Given the description of an element on the screen output the (x, y) to click on. 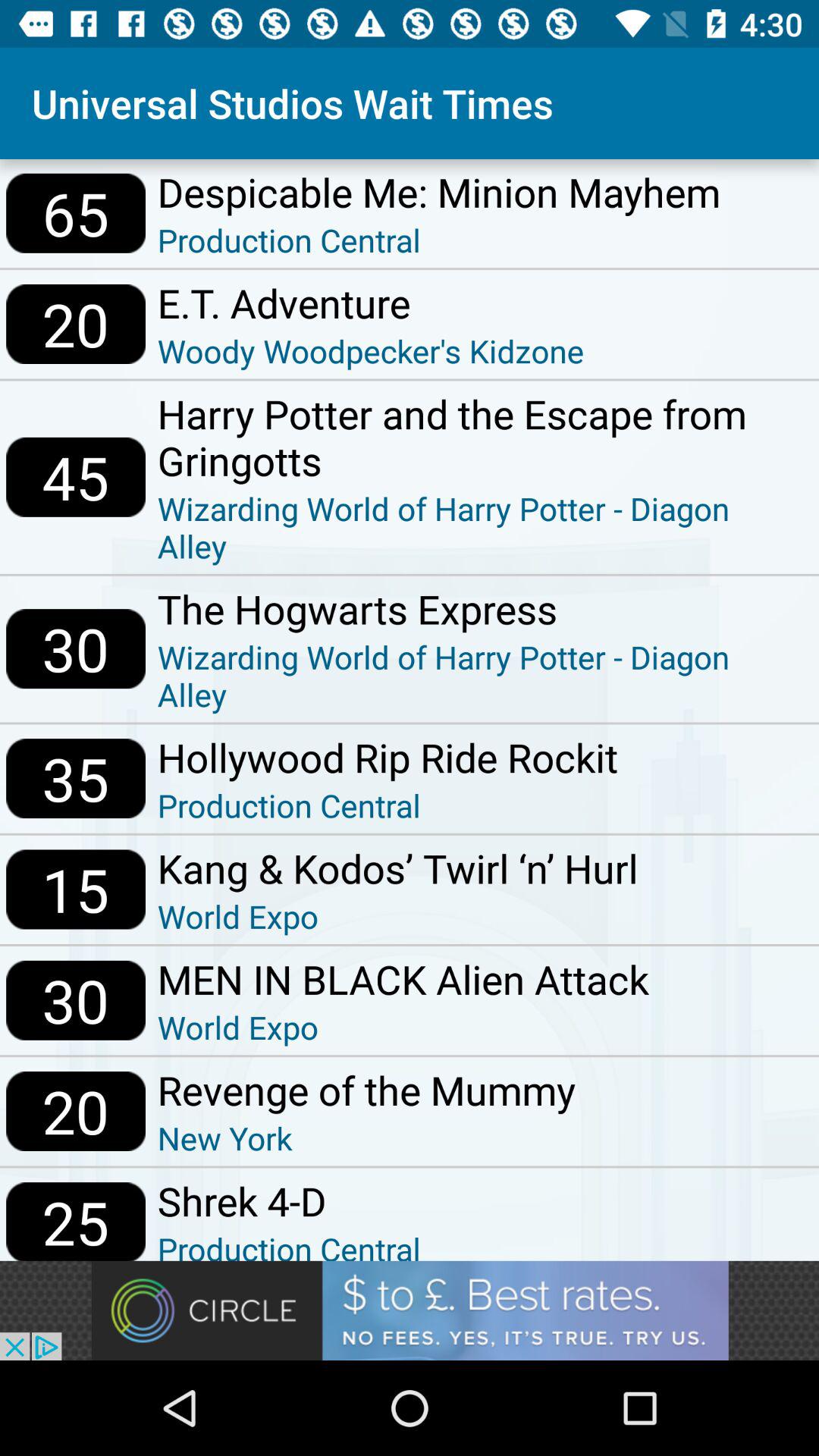
tap icon next to 30 icon (481, 608)
